Given the description of an element on the screen output the (x, y) to click on. 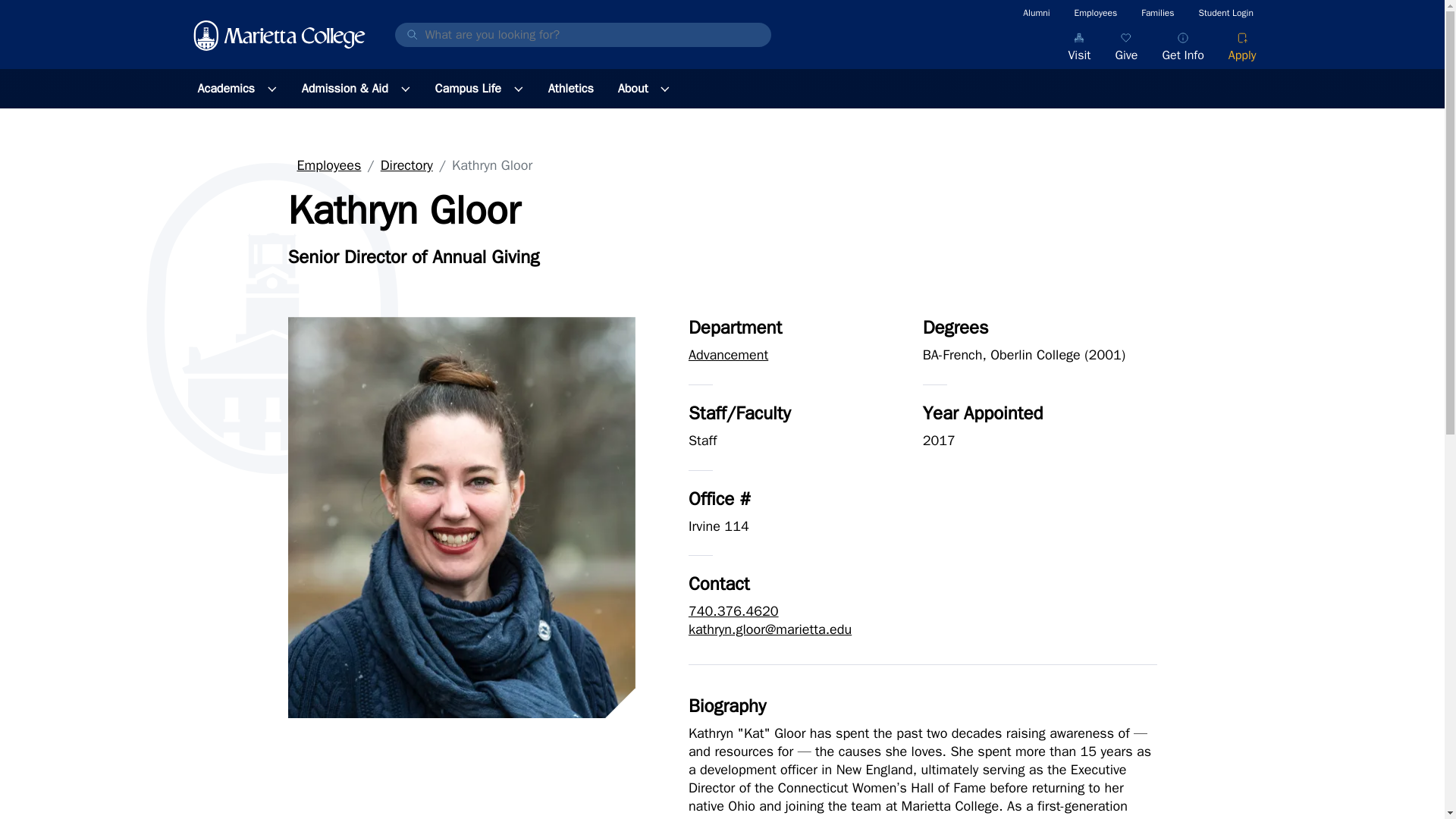
Marietta College (278, 34)
Search (13, 13)
